Given the description of an element on the screen output the (x, y) to click on. 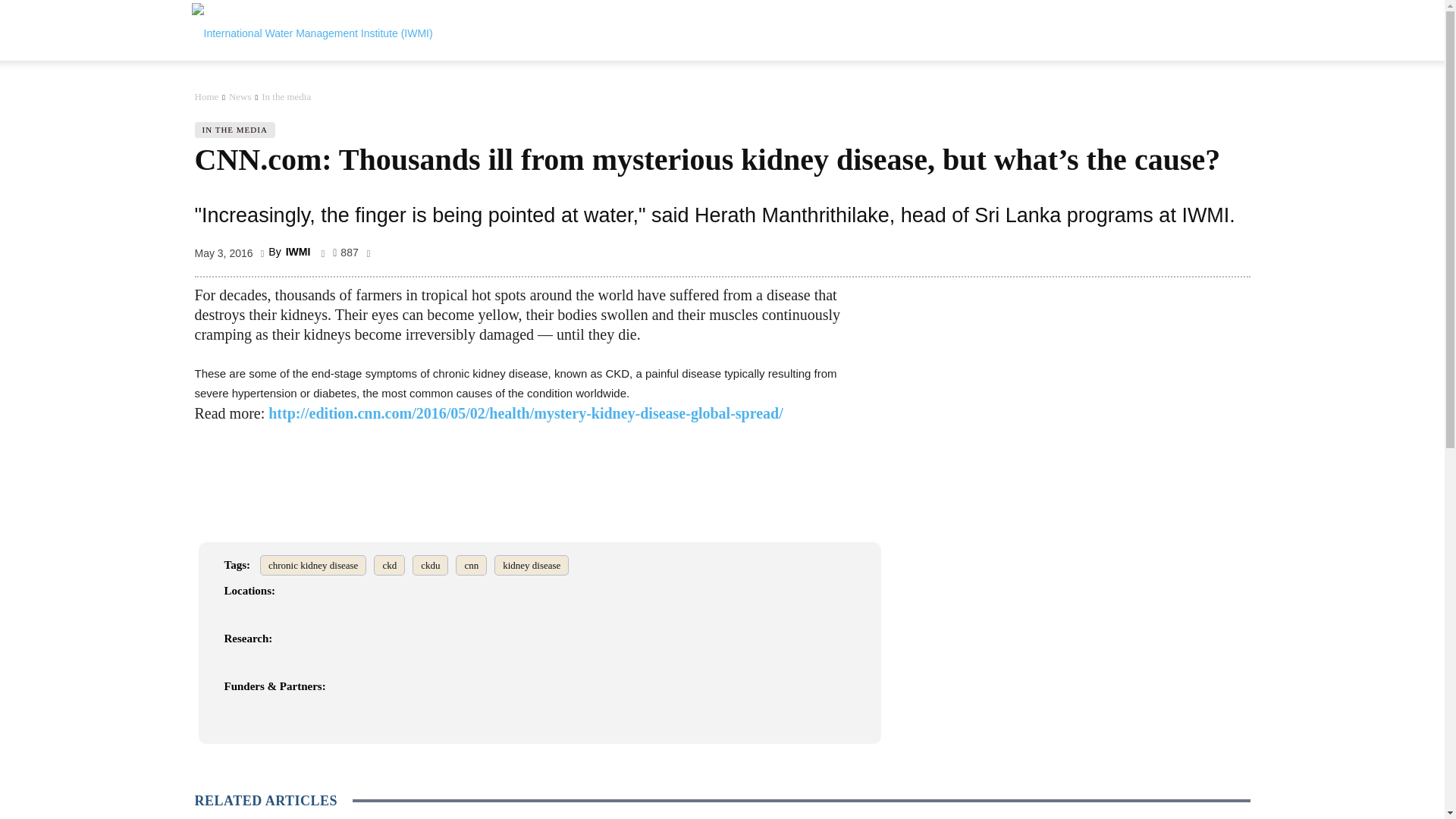
View all posts in News (239, 96)
Search (1210, 102)
View all posts in In the media (286, 96)
